Given the description of an element on the screen output the (x, y) to click on. 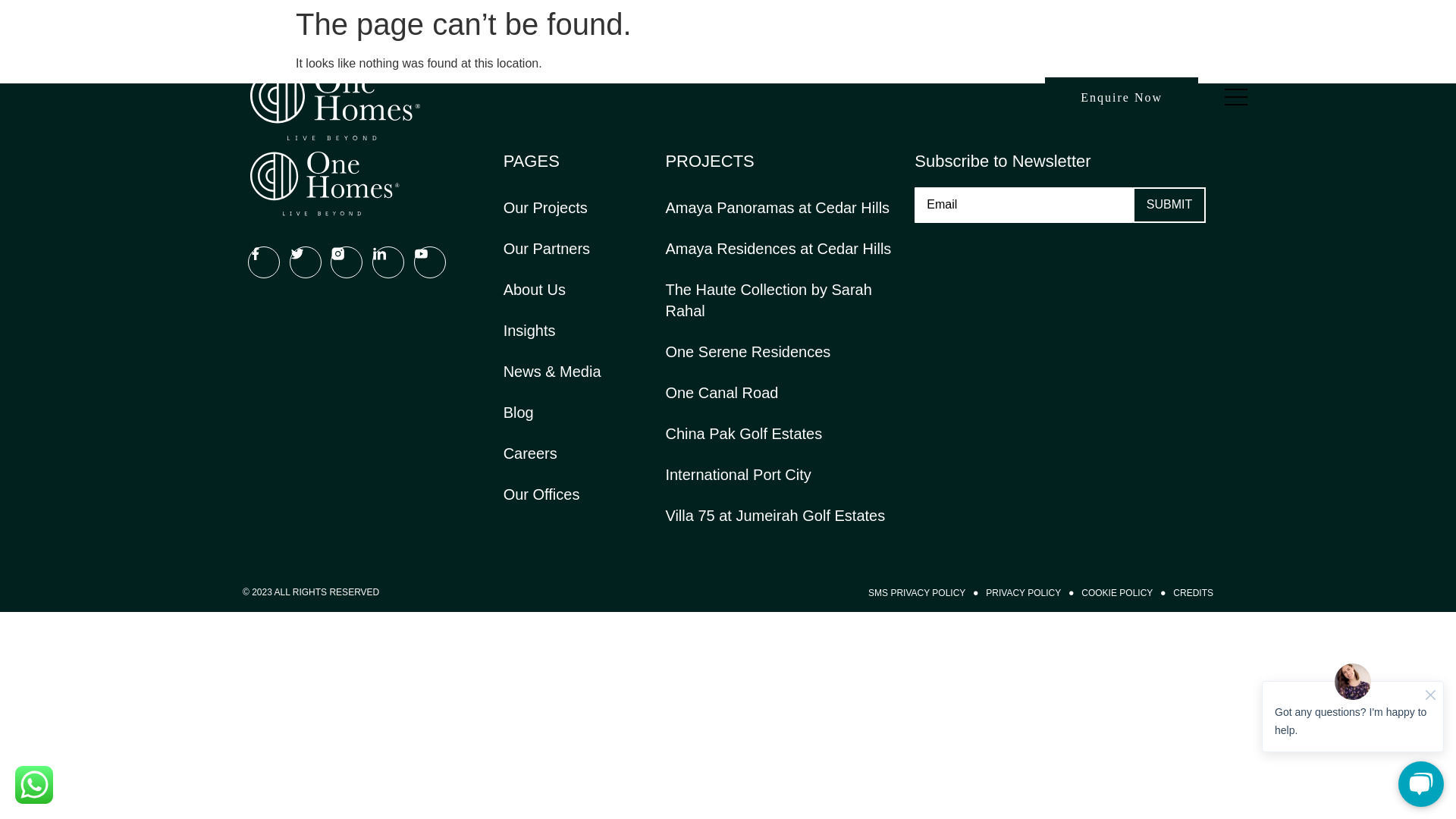
Amaya Panoramas at Cedar Hills (777, 207)
Amaya Residences at Cedar Hills (778, 248)
One Serene Residences (747, 351)
Enquire Now (1121, 96)
The Haute Collection by Sarah Rahal (782, 300)
Our Offices (541, 494)
Insights (529, 330)
Our Partners (546, 248)
Enquire Now (1121, 96)
Careers (530, 453)
About Us (534, 289)
Our Projects (545, 207)
One Canal Road (721, 392)
China Pak Golf Estates (743, 433)
